Given the description of an element on the screen output the (x, y) to click on. 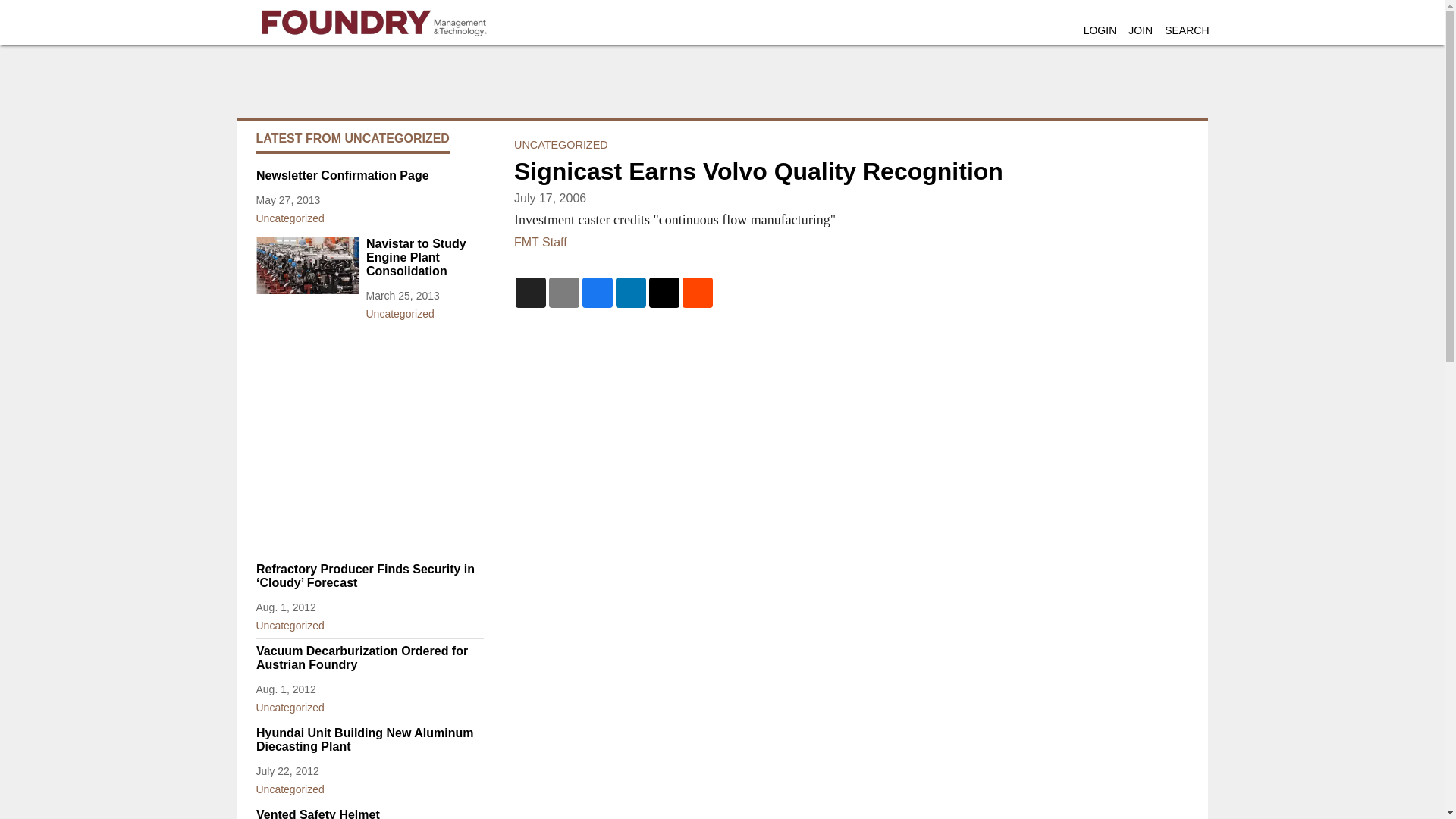
Uncategorized (424, 311)
Newsletter Confirmation Page (369, 175)
Vacuum Decarburization Ordered for Austrian Foundry (369, 657)
SEARCH (1186, 30)
LOGIN (1099, 30)
Hyundai Unit Building New Aluminum Diecasting Plant (369, 739)
Navistar to Study Engine Plant Consolidation (424, 257)
Uncategorized (369, 704)
Uncategorized (369, 215)
Uncategorized (369, 622)
